Given the description of an element on the screen output the (x, y) to click on. 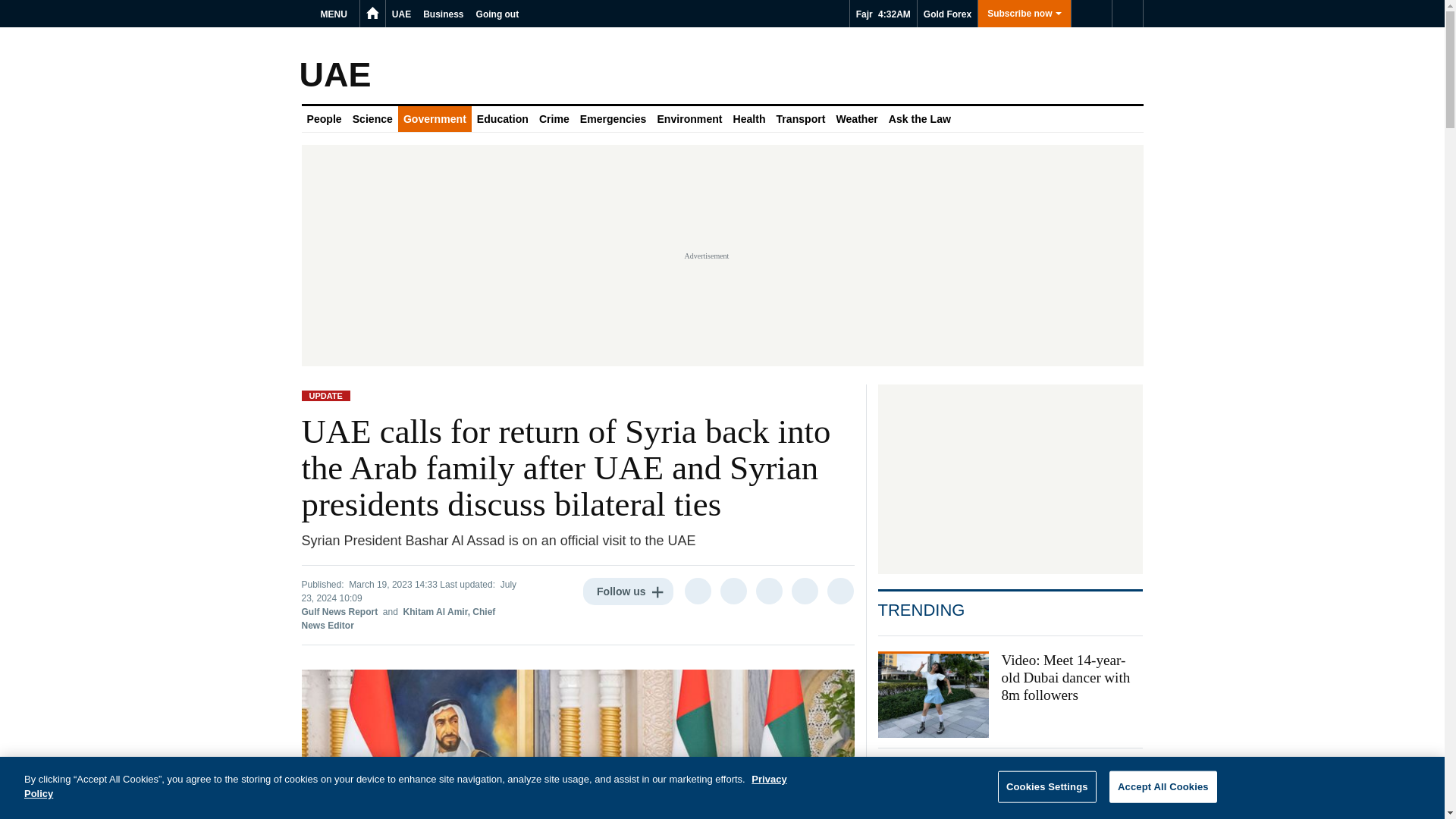
UAE (400, 13)
Business (442, 13)
MENU (336, 13)
Subscribe now (1024, 13)
Gold Forex (946, 13)
Fajr 4:32AM (883, 13)
Going out (497, 13)
